Given the description of an element on the screen output the (x, y) to click on. 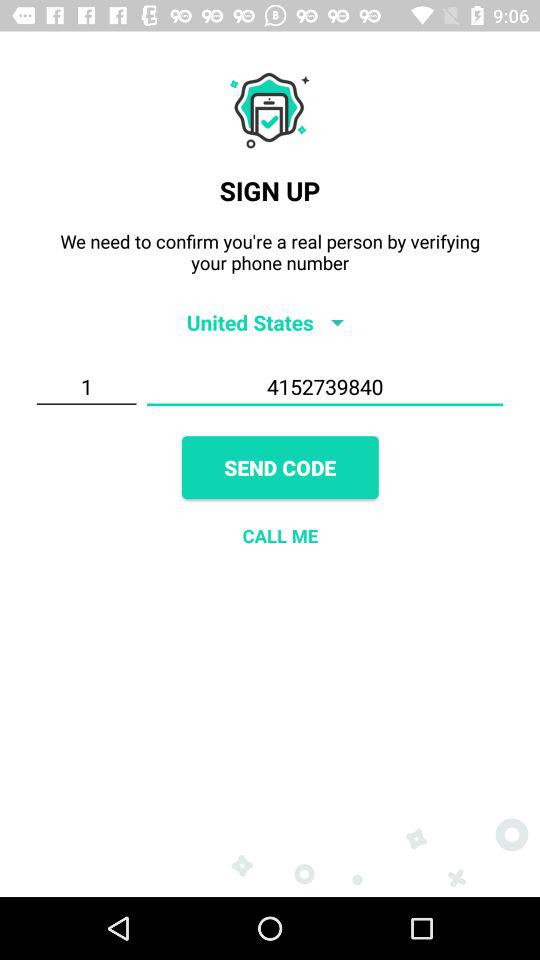
launch call me (280, 535)
